Given the description of an element on the screen output the (x, y) to click on. 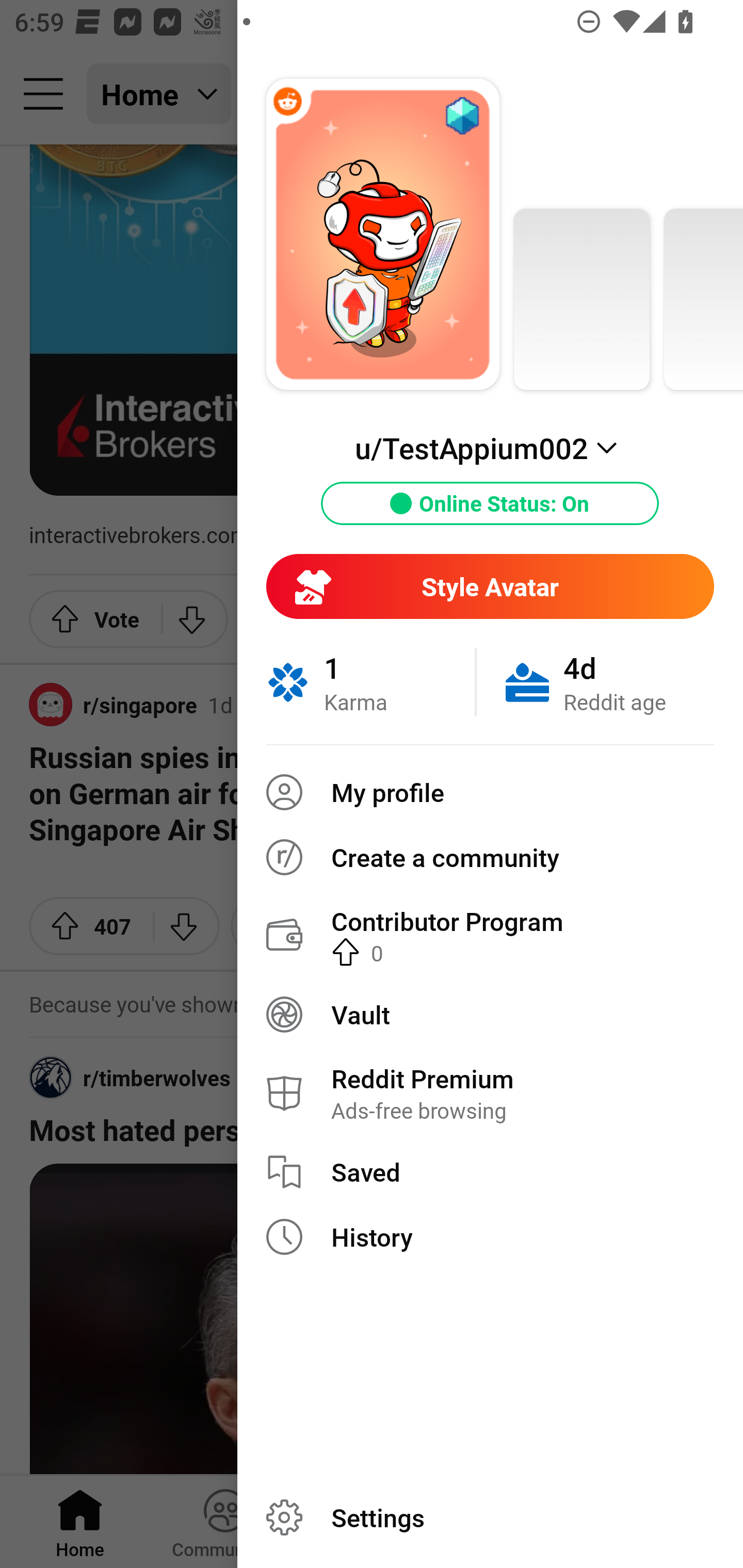
u/TestAppium002 (489, 447)
Online Status: On (489, 503)
Style Avatar (489, 586)
1 Karma 1 Karma (369, 681)
My profile (490, 792)
Create a community (490, 856)
Contributor Program Contributor Program 0 (490, 935)
Vault (490, 1014)
Saved (490, 1171)
History (490, 1237)
Settings (490, 1517)
